Given the description of an element on the screen output the (x, y) to click on. 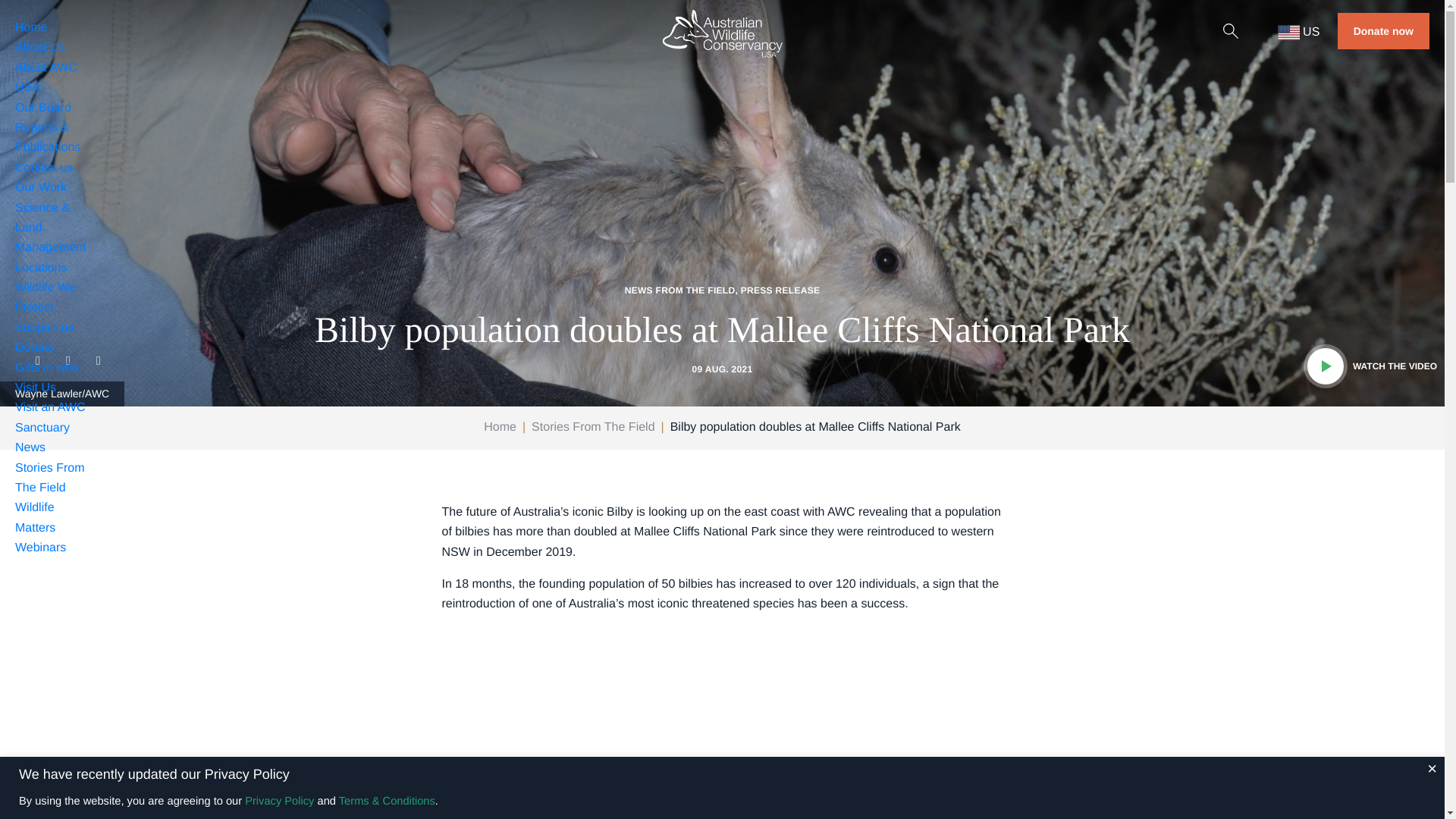
About AWC USA (45, 77)
Gifts in wills (46, 367)
Support us (44, 327)
Visit Us (35, 387)
Stories From The Field (592, 427)
About Us (39, 47)
Donate (34, 347)
News (29, 447)
Wildlife Matters (34, 517)
Webinars (39, 547)
WATCH THE VIDEO (1372, 366)
Our Board (42, 107)
Donate now (1383, 31)
Locations (40, 267)
Home (31, 27)
